Given the description of an element on the screen output the (x, y) to click on. 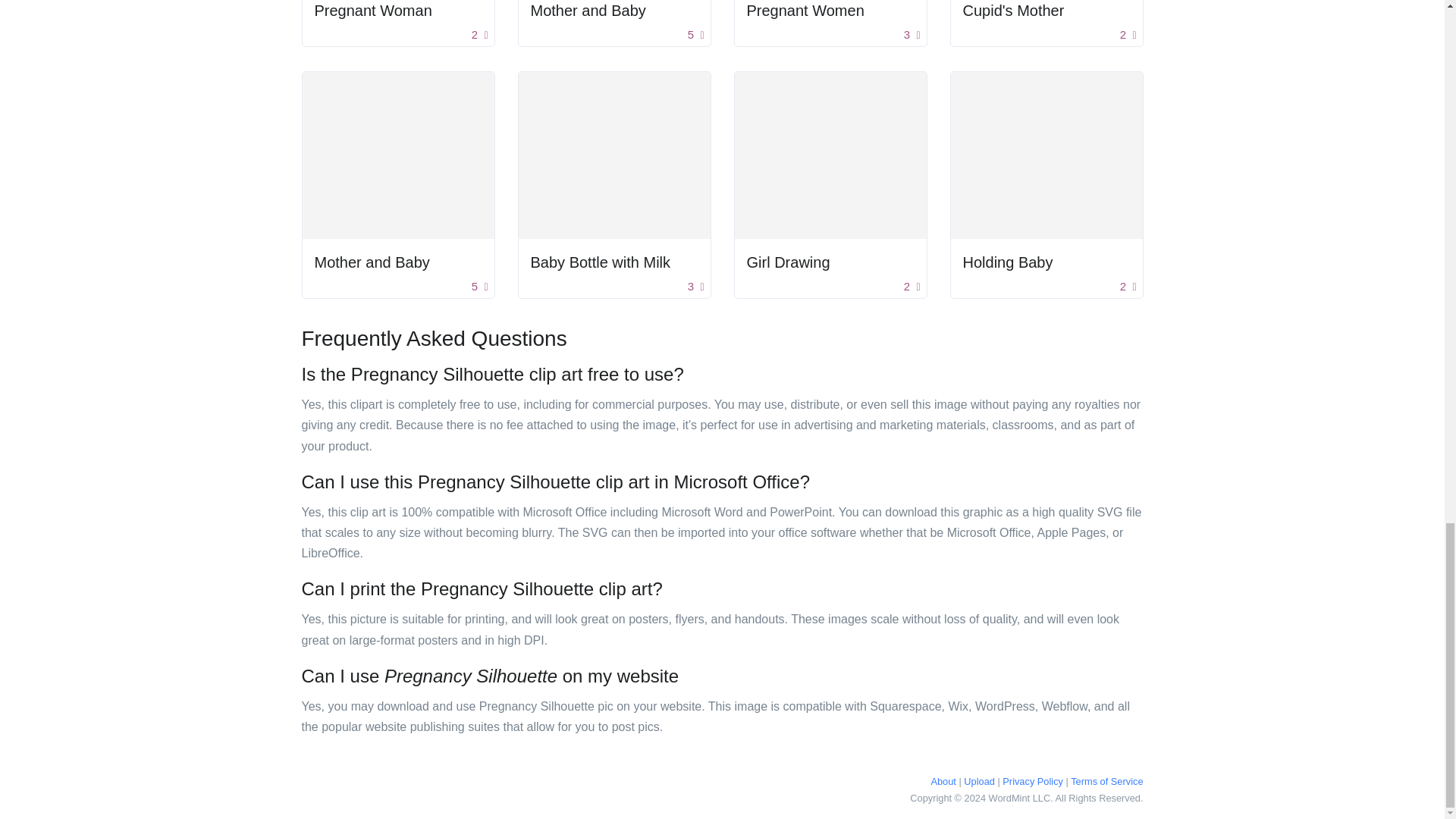
2 people liked this (479, 35)
Pregnant Woman (397, 11)
Mother and Baby (614, 11)
